Given the description of an element on the screen output the (x, y) to click on. 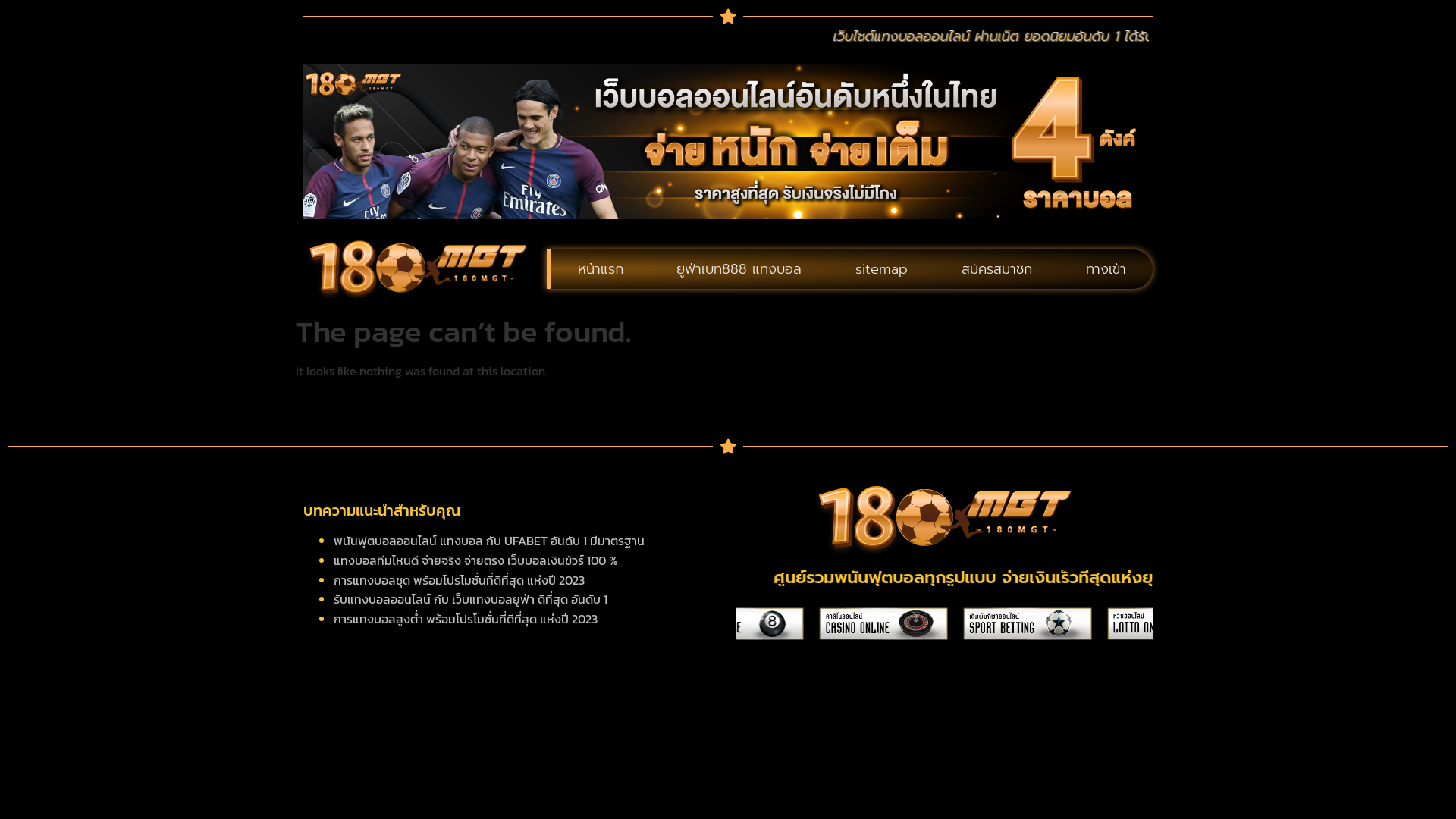
sitemap Element type: text (881, 268)
